Given the description of an element on the screen output the (x, y) to click on. 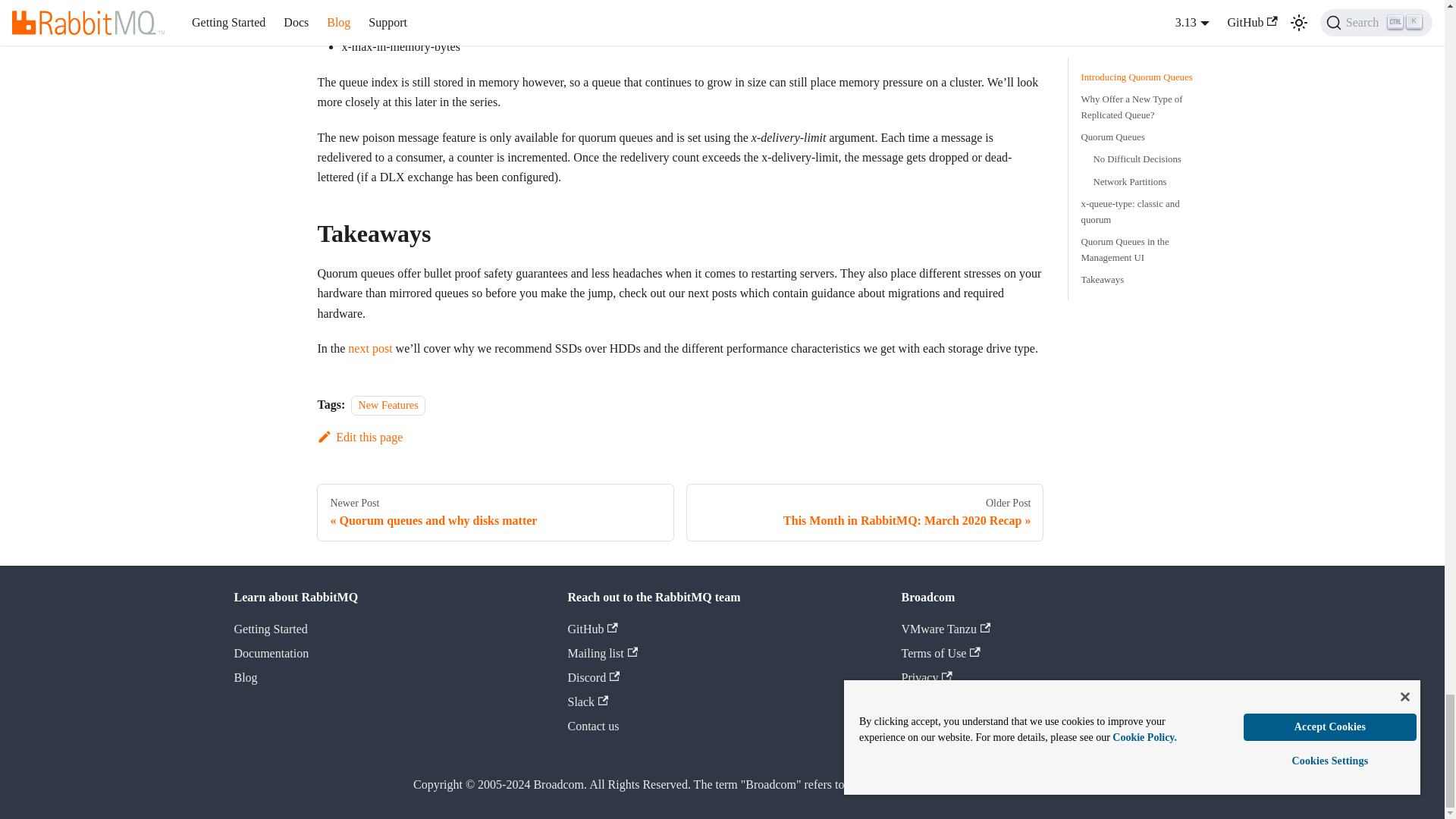
New Features (495, 512)
Edit this page (387, 405)
next post (864, 512)
